Given the description of an element on the screen output the (x, y) to click on. 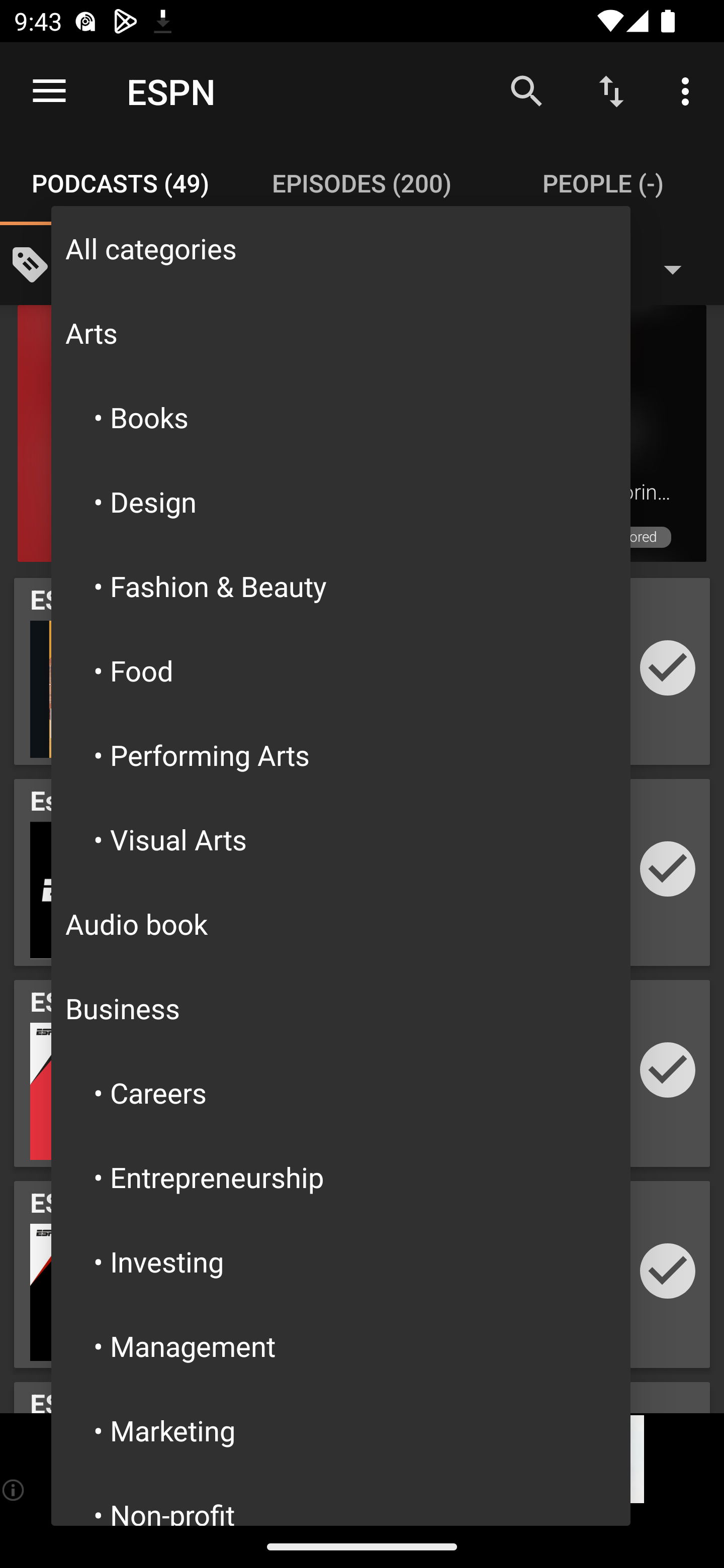
All categories (340, 247)
Arts (340, 332)
    • Books (340, 416)
    • Design (340, 501)
    • Fashion & Beauty (340, 586)
    • Food (340, 669)
    • Performing Arts (340, 753)
    • Visual Arts (340, 838)
Audio book (340, 923)
Business (340, 1007)
    • Careers (340, 1092)
    • Entrepreneurship (340, 1177)
    • Investing (340, 1261)
    • Management (340, 1345)
    • Marketing (340, 1429)
